Given the description of an element on the screen output the (x, y) to click on. 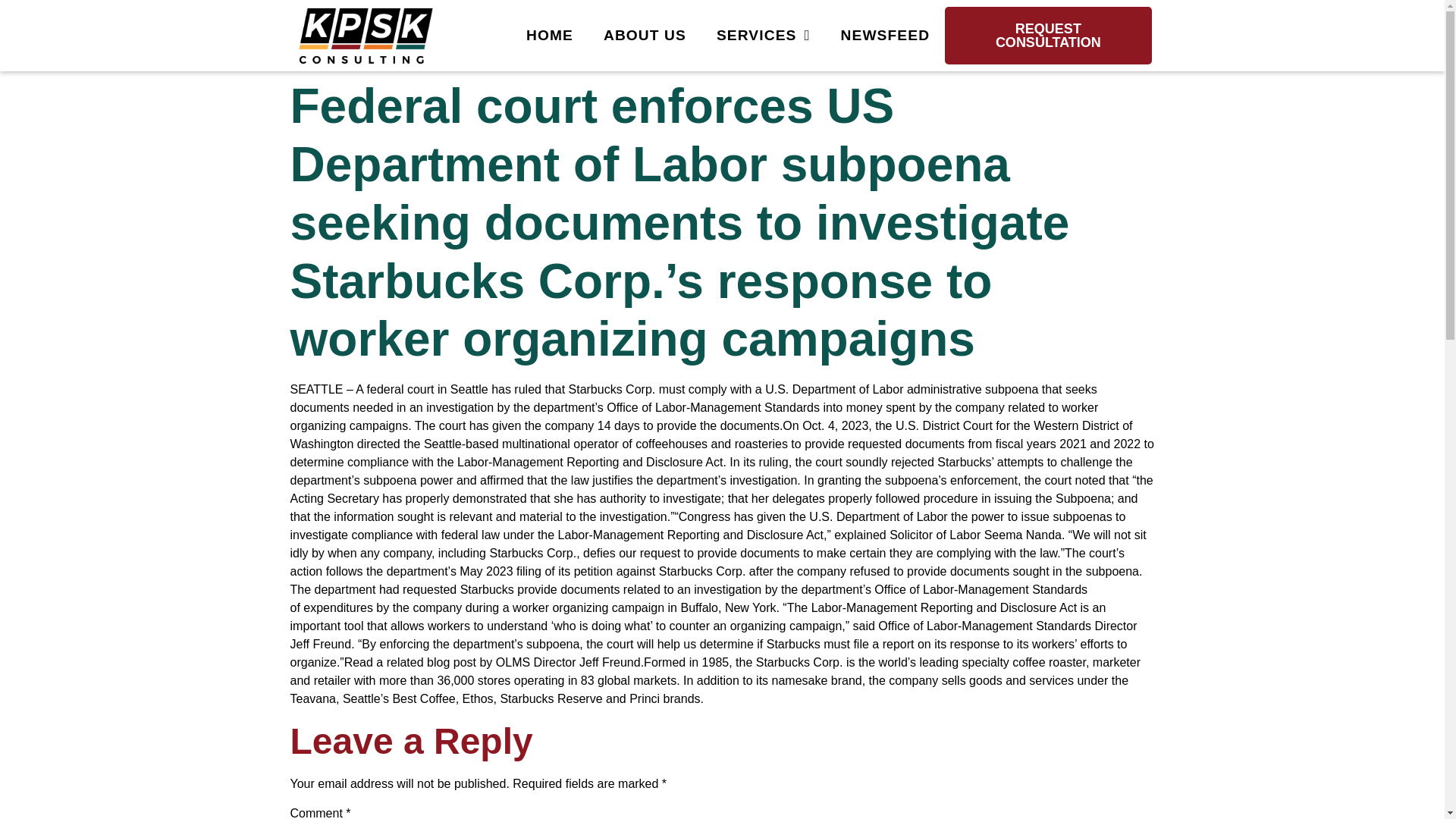
NEWSFEED (884, 35)
HOME (549, 35)
REQUEST CONSULTATION (1047, 35)
ABOUT US (644, 35)
SERVICES (763, 35)
